Given the description of an element on the screen output the (x, y) to click on. 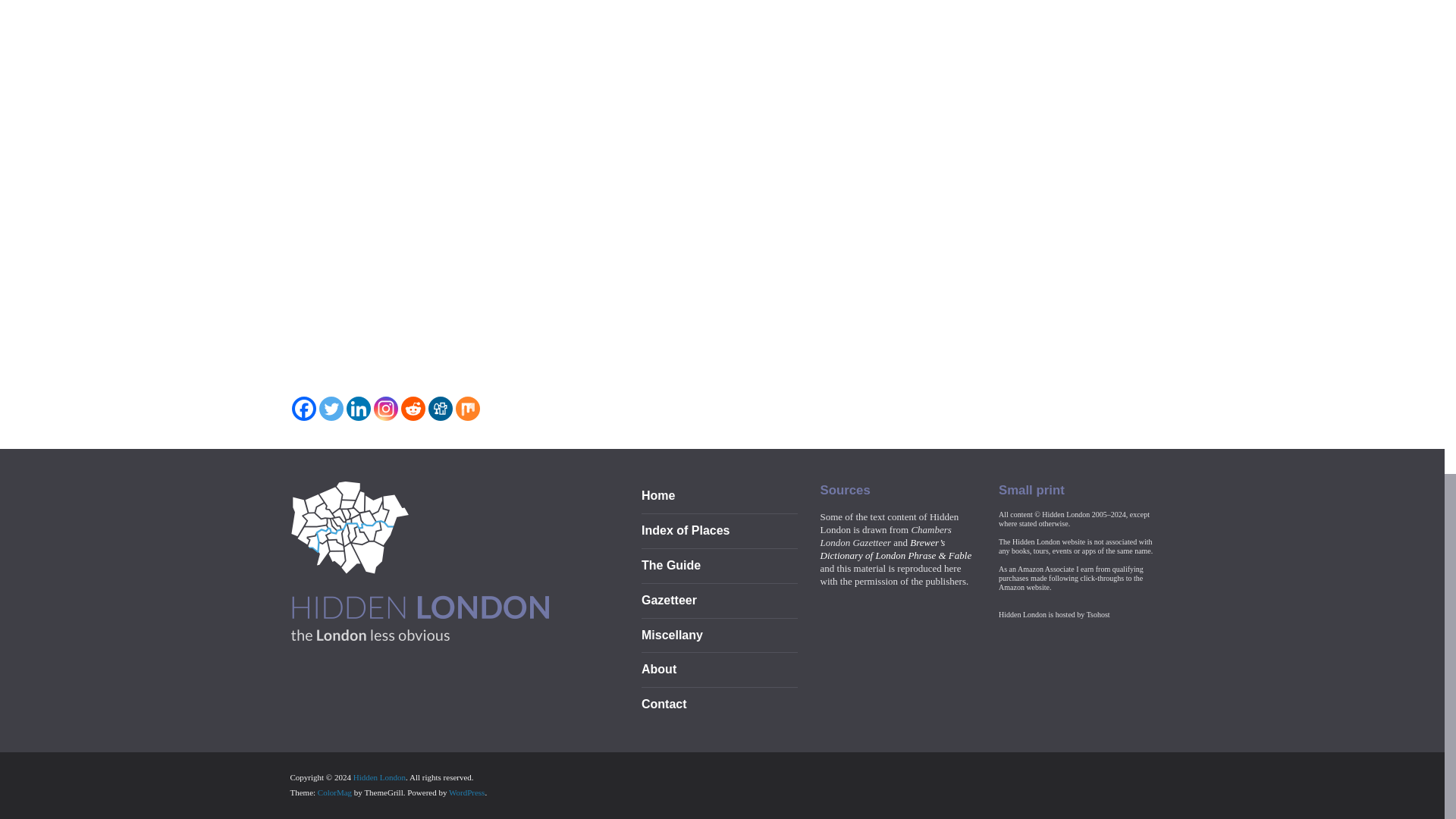
Reddit (412, 408)
Mix (466, 408)
Digg (439, 408)
Twitter (330, 408)
ColorMag (334, 791)
Facebook (303, 408)
Instagram (384, 408)
Home (658, 495)
Hidden London (379, 777)
Linkedin (357, 408)
Hidden London (421, 561)
